Given the description of an element on the screen output the (x, y) to click on. 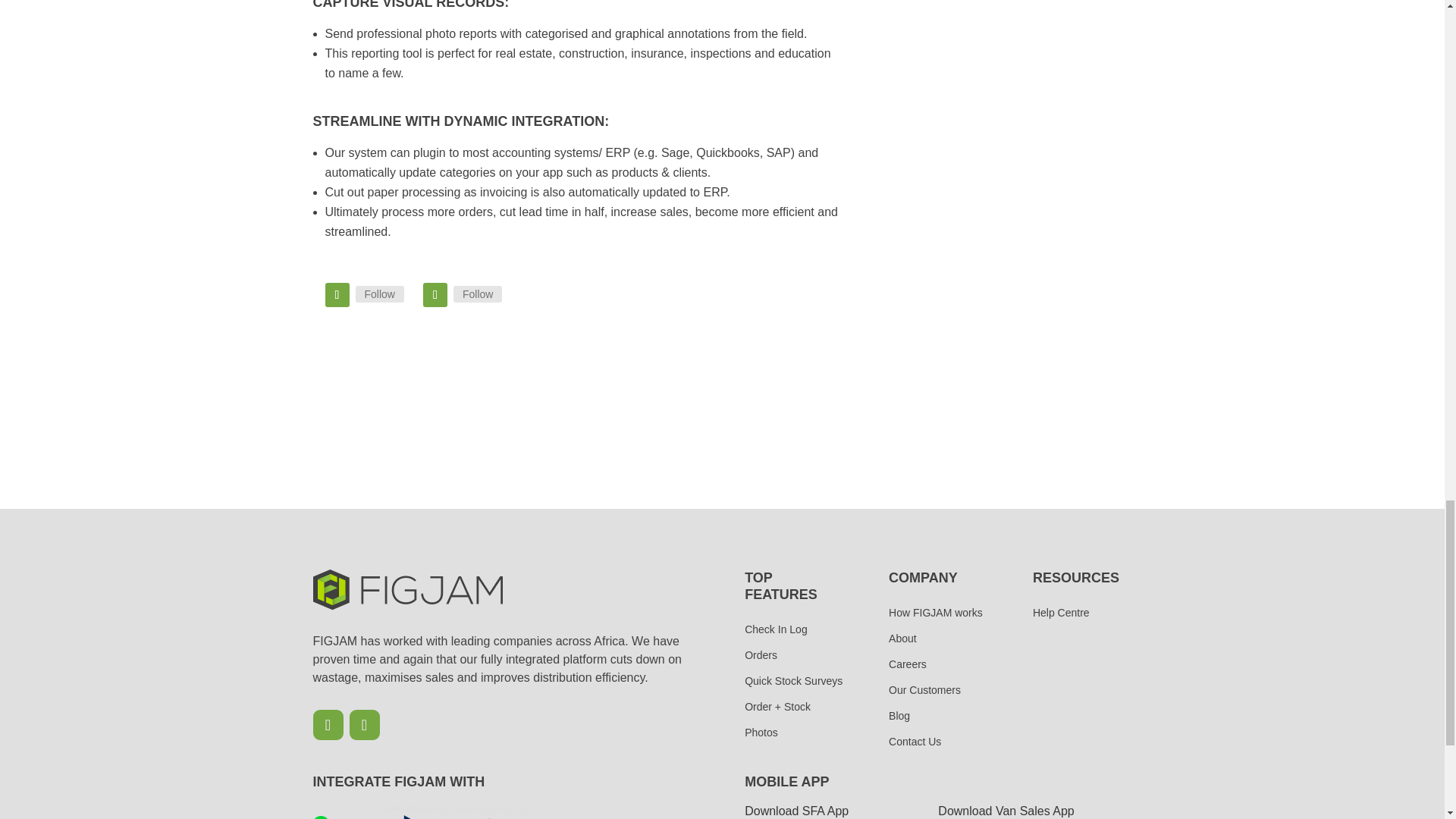
Check In Log (793, 629)
Follow on Facebook (336, 294)
Facebook (379, 293)
Follow on LinkedIn (434, 294)
Follow on Facebook (327, 725)
Logo-grey (407, 589)
Orders (793, 655)
Quick Stock Surveys (793, 680)
Follow on LinkedIn (363, 725)
LinkedIn (477, 293)
